Given the description of an element on the screen output the (x, y) to click on. 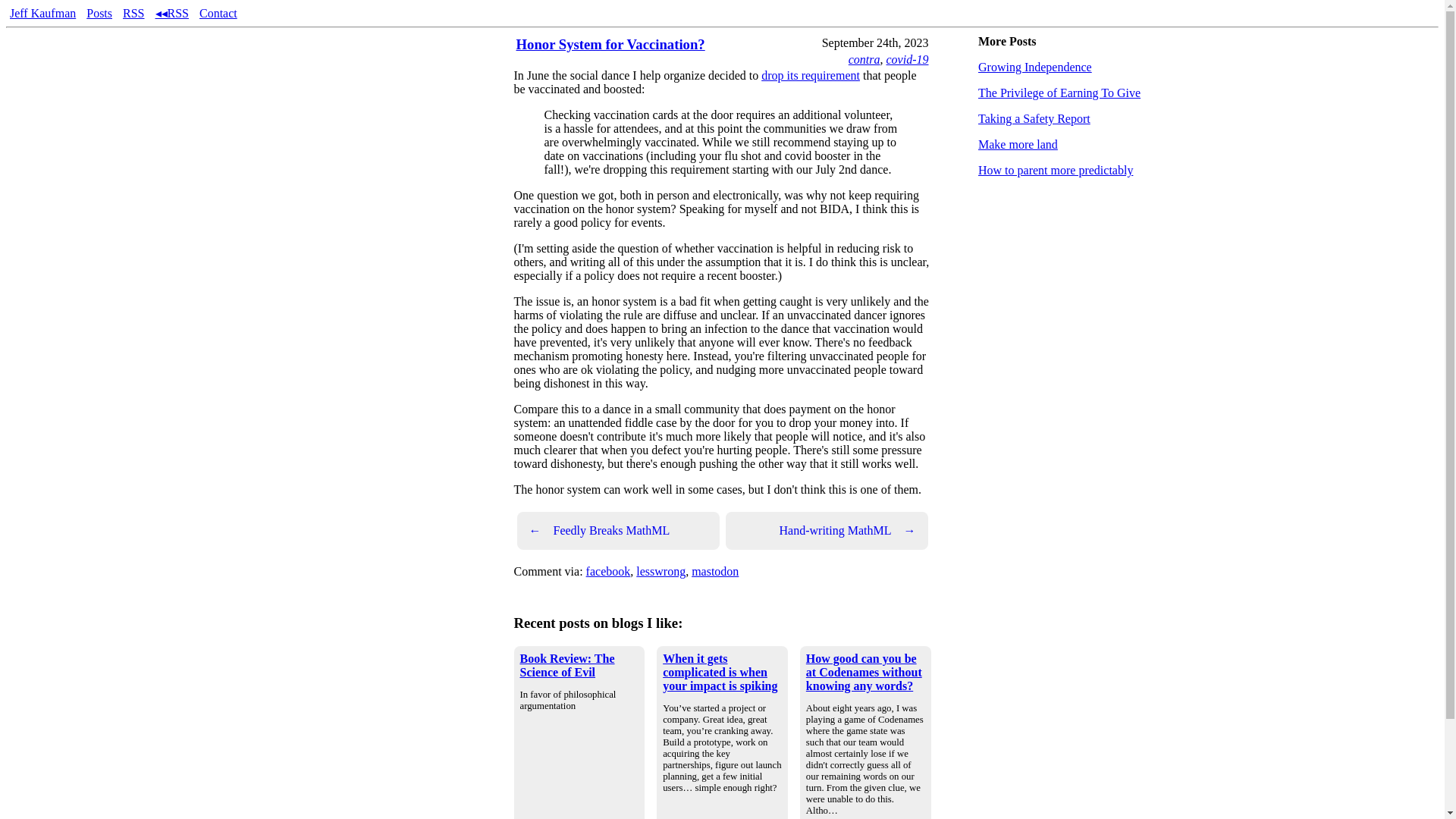
Contact (218, 12)
Make more land (1018, 144)
RSS (133, 12)
How good can you be at Codenames without knowing any words? (863, 671)
Honor System for Vaccination? (609, 44)
Book Review: The Science of Evil (566, 664)
drop its requirement (810, 74)
facebook (608, 571)
How to parent more predictably (1055, 169)
covid-19 (907, 59)
